Given the description of an element on the screen output the (x, y) to click on. 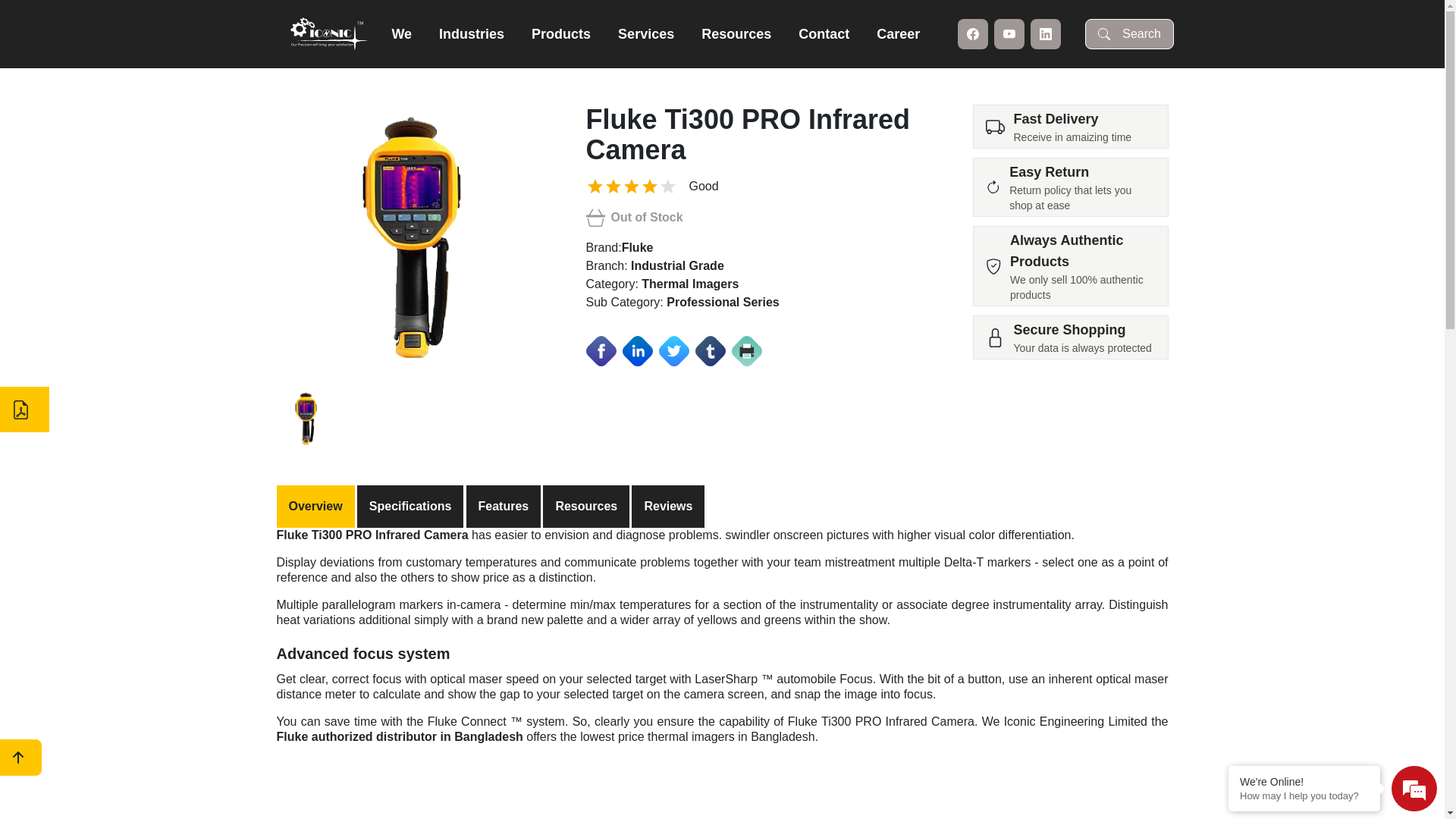
We Element type: text (401, 34)
Services Element type: text (645, 34)
Career Element type: text (897, 34)
Resources Element type: text (735, 34)
Fluke Ti300 PRO Infrared Camera Element type: hover (412, 240)
Search Element type: text (1129, 33)
Industries Element type: text (471, 34)
Fluke Element type: text (637, 247)
Products Element type: text (560, 34)
Iconci Element type: hover (329, 33)
Thermal Imagers Element type: text (689, 283)
Professional Series Element type: text (722, 301)
Contact Element type: text (823, 34)
